Given the description of an element on the screen output the (x, y) to click on. 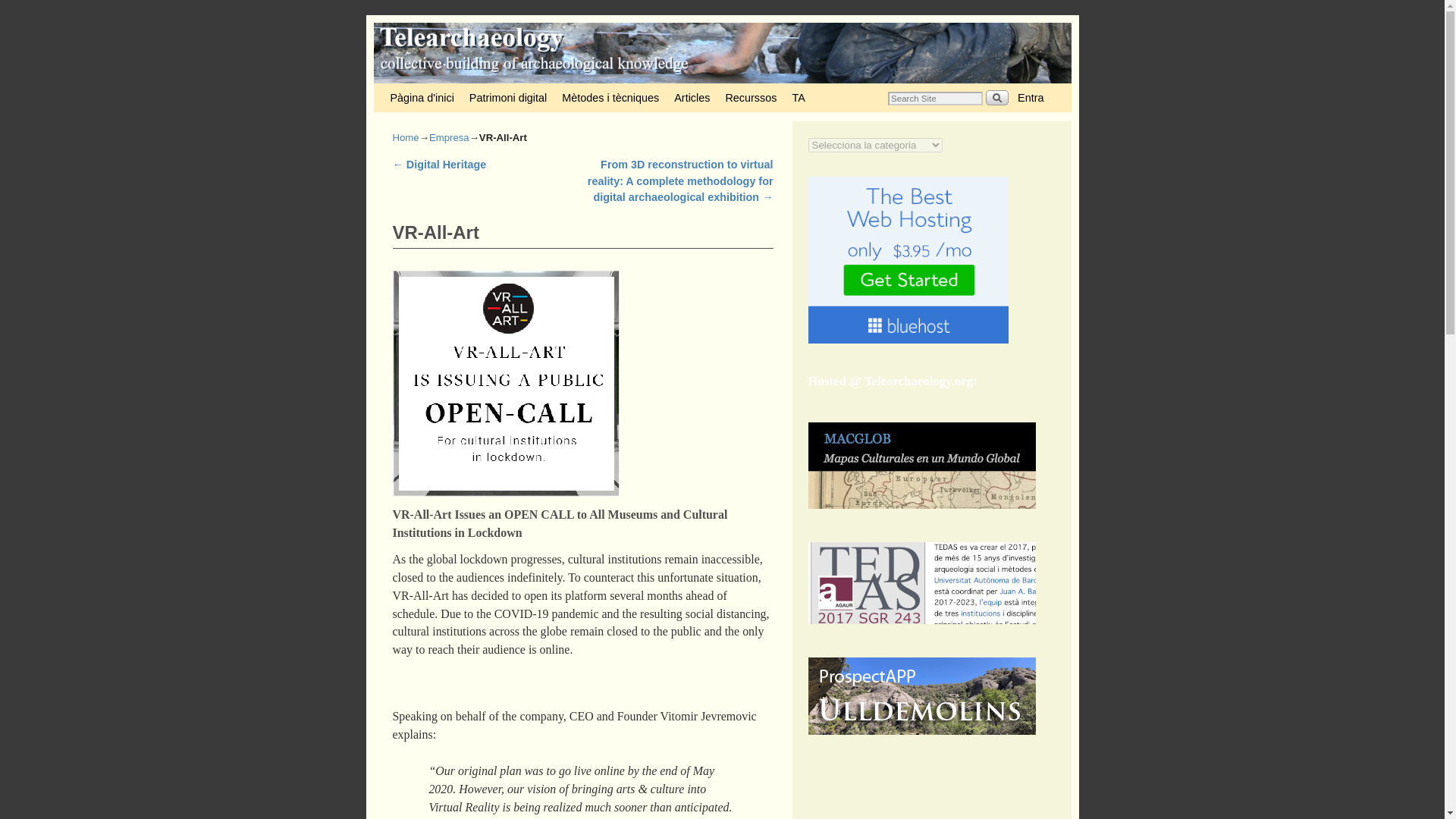
Recurssos (750, 97)
Patrimoni digital (507, 97)
Articles (691, 97)
Skip to primary content (416, 90)
TA (798, 97)
Entra (1030, 97)
Empresa (448, 137)
Skip to secondary content (419, 90)
Home (406, 137)
